Given the description of an element on the screen output the (x, y) to click on. 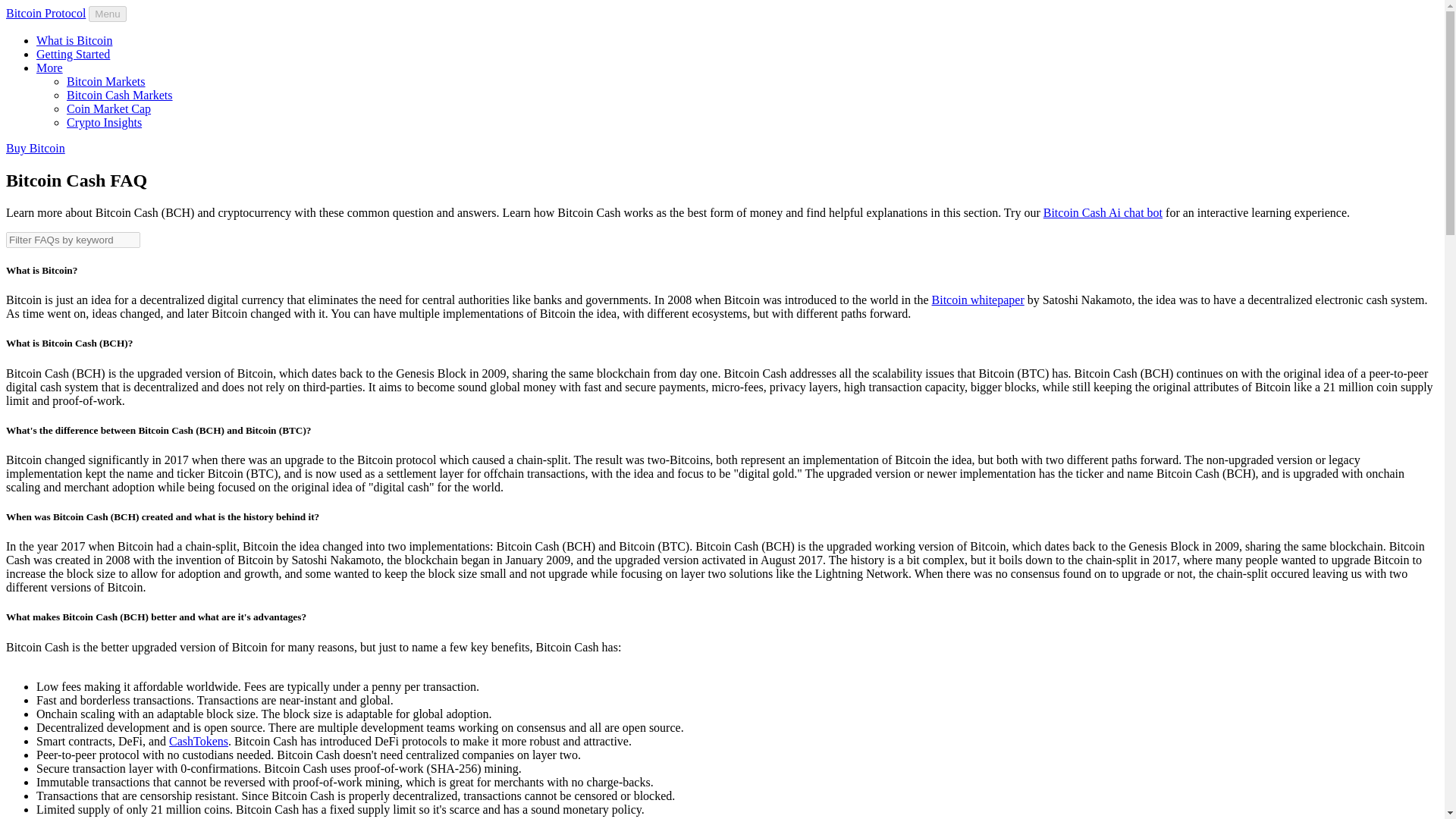
Bitcoin whitepaper (978, 299)
Bitcoin Protocol (45, 12)
Bitcoin Markets (105, 81)
CashTokens (198, 740)
Getting Started (73, 53)
Buy Bitcoin (35, 147)
Crypto Insights (103, 122)
More (49, 67)
What is Bitcoin (74, 40)
Coin Market Cap (108, 108)
